Given the description of an element on the screen output the (x, y) to click on. 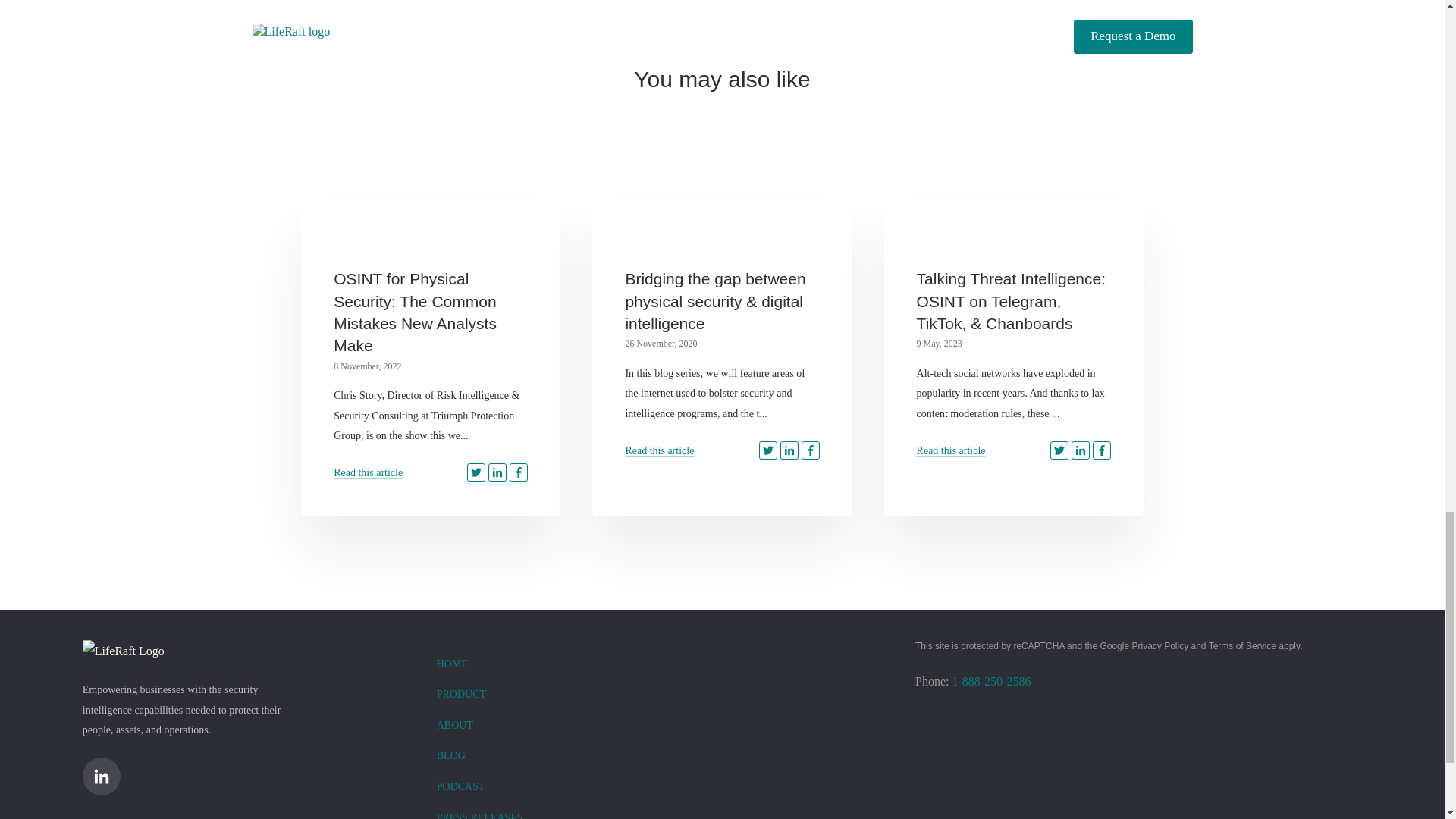
Share on Twitter (1058, 450)
Read this article (659, 450)
Read this article (951, 450)
Share on Twitter (475, 472)
Share on Facebook (1101, 450)
Share on LinkedIn (496, 472)
Share on LinkedIn (788, 450)
Read this article (659, 450)
Share on Twitter (767, 450)
